Given the description of an element on the screen output the (x, y) to click on. 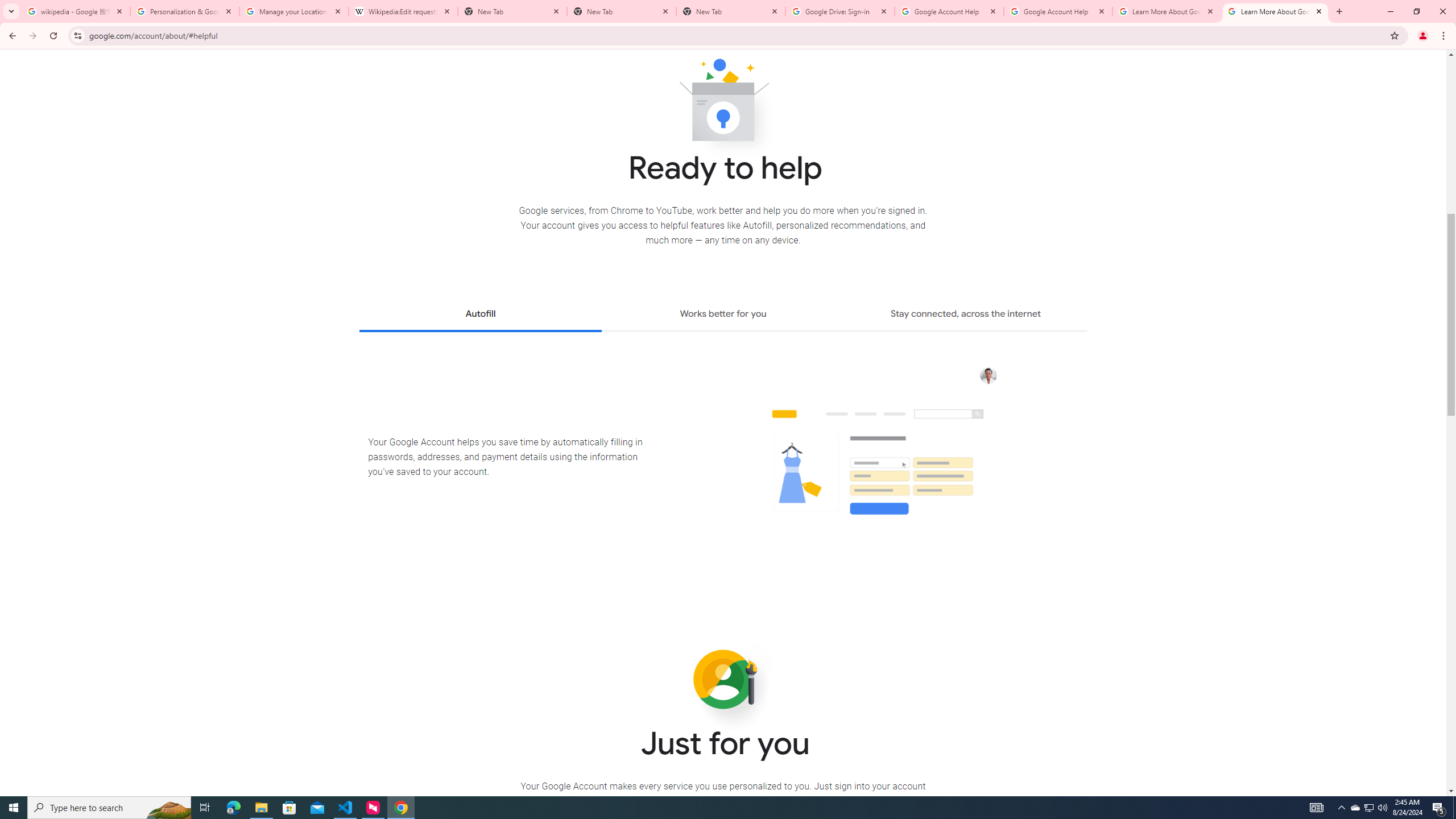
Google Account Help (1058, 11)
